Given the description of an element on the screen output the (x, y) to click on. 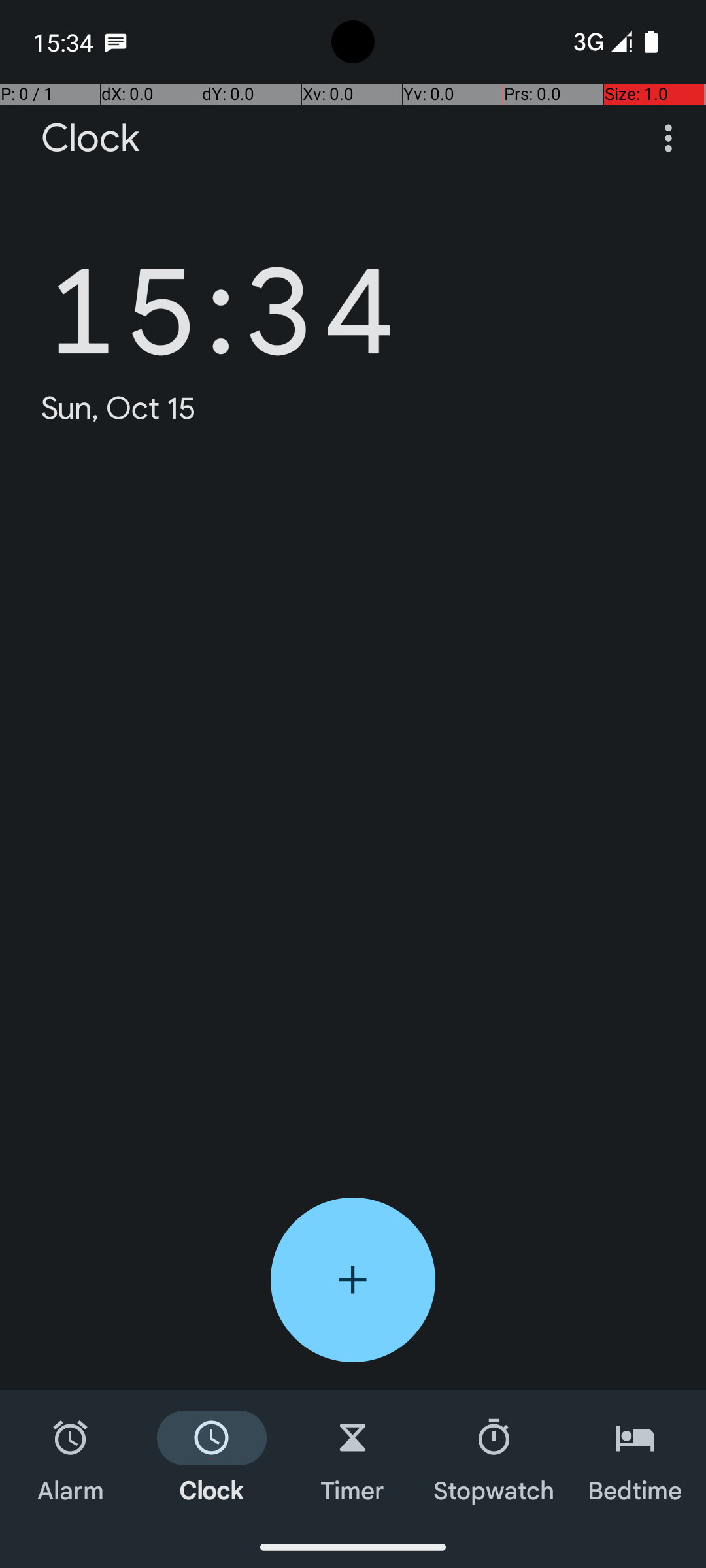
Add city Element type: android.widget.Button (352, 1279)
Sun, Oct 15 Element type: android.widget.TextView (118, 407)
